Given the description of an element on the screen output the (x, y) to click on. 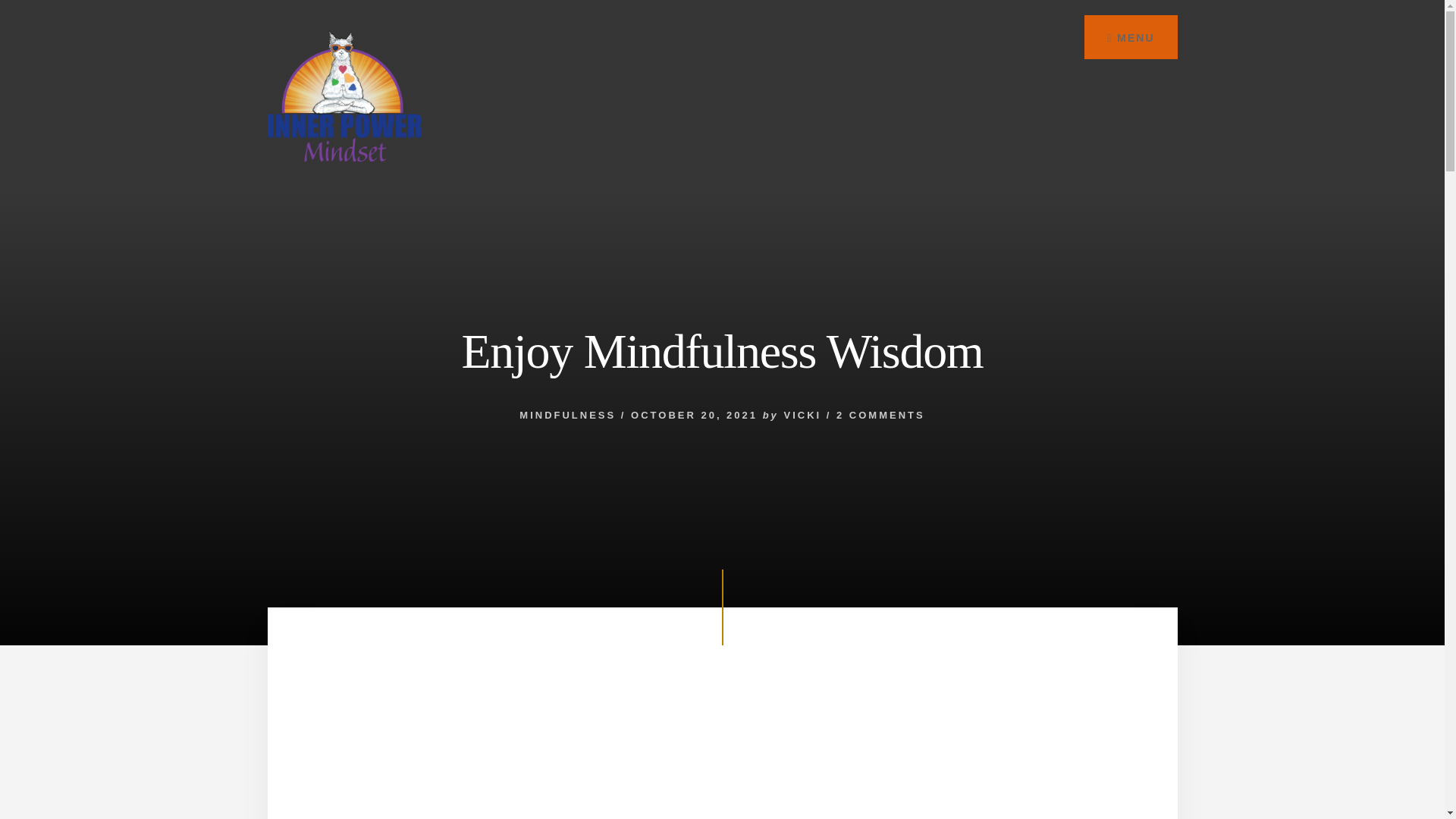
MINDFULNESS (567, 414)
Mindfulness Wisdom (721, 751)
MENU (1130, 36)
2 COMMENTS (879, 414)
VICKI (802, 414)
